Given the description of an element on the screen output the (x, y) to click on. 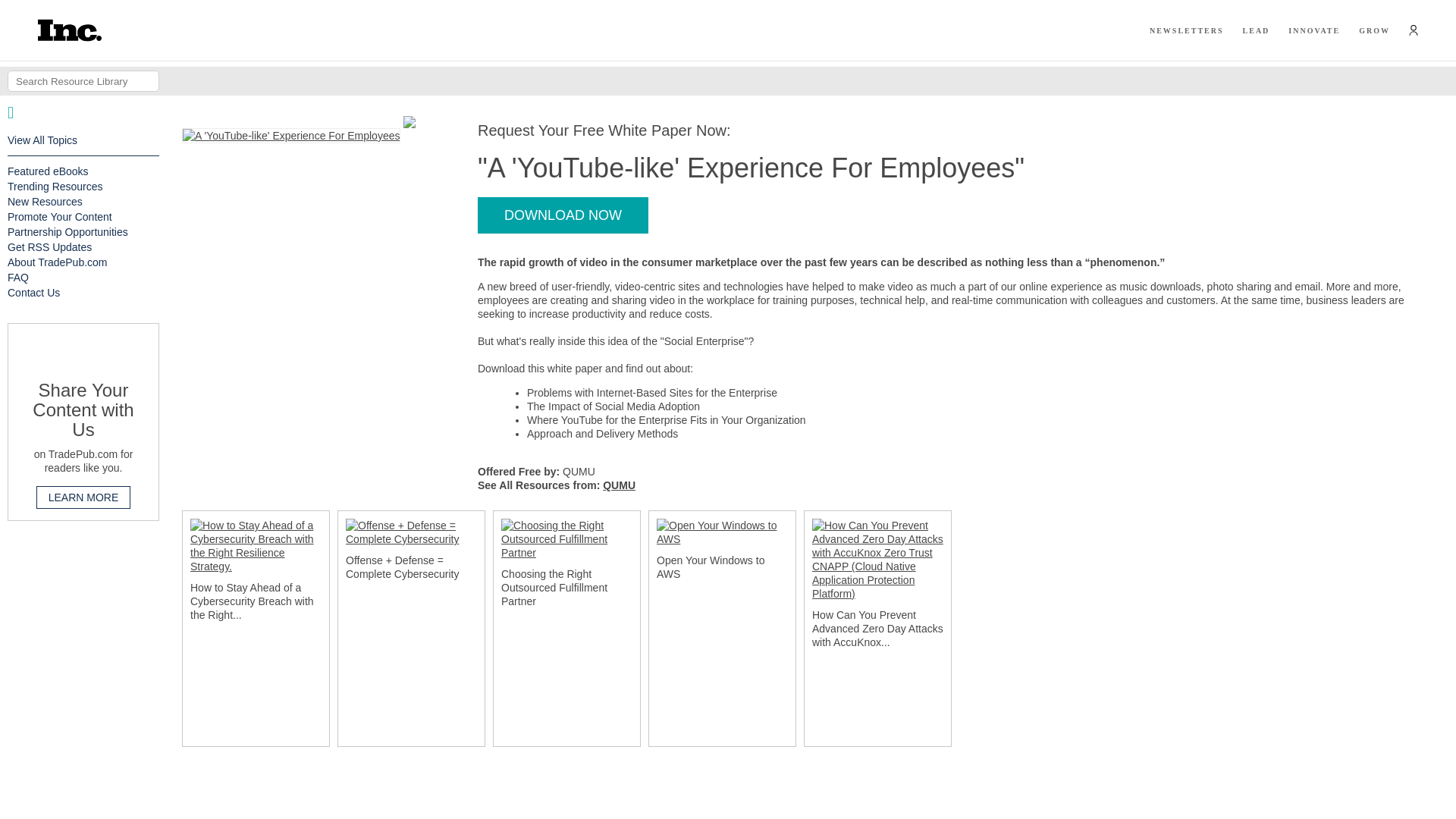
INNOVATE (1313, 30)
Continue to Grow on Inc.com (1374, 30)
LEAD (1256, 30)
GROW (1374, 30)
Continue to Lead on Inc.com (1256, 30)
Continue to Innovate on Inc.com (1313, 30)
Continue to Newsletters on Inc.com (1187, 30)
NEWSLETTERS (1187, 30)
